Given the description of an element on the screen output the (x, y) to click on. 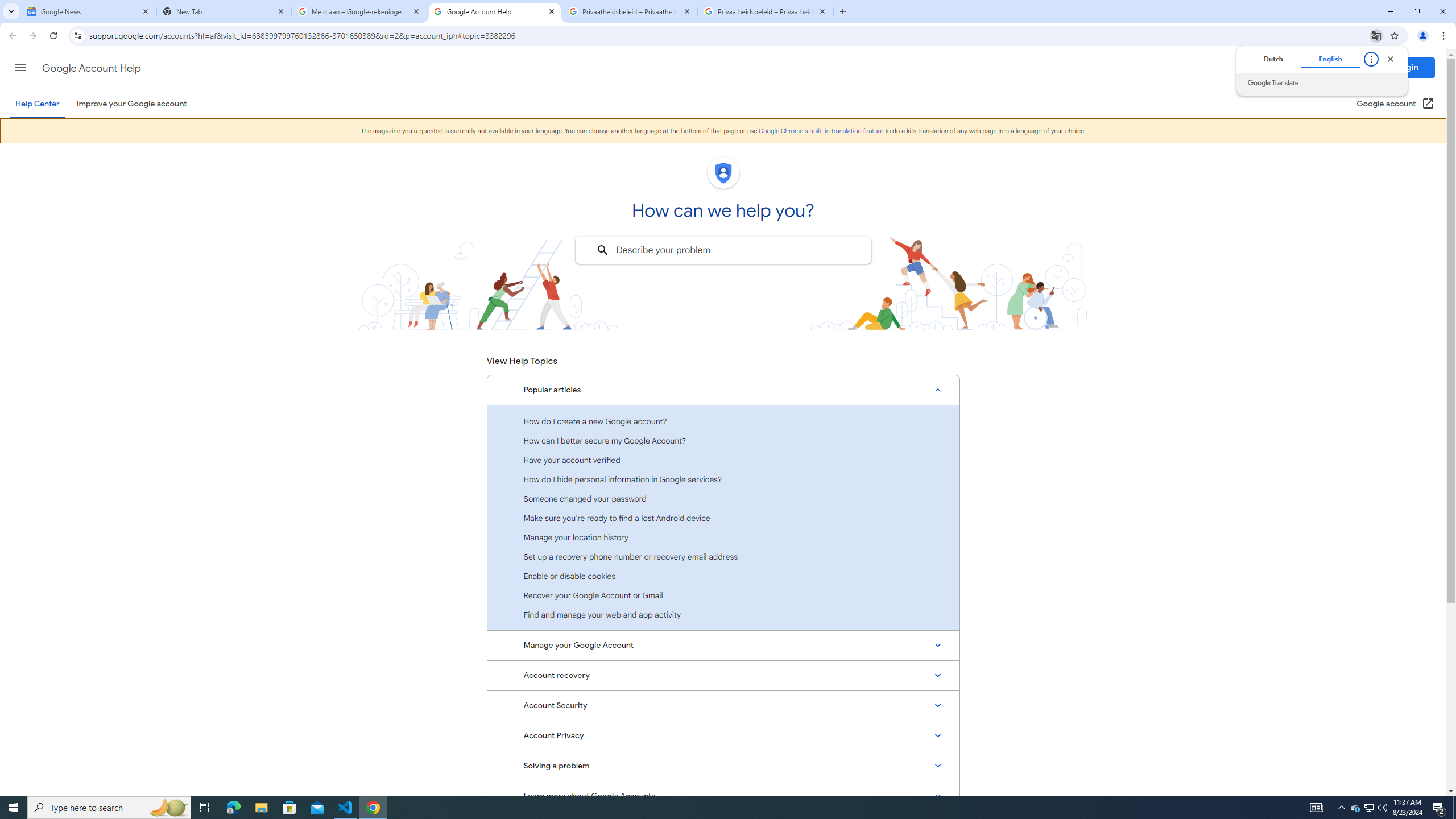
Recover your Google Account or Gmail (722, 595)
How can I better secure my Google Account? (722, 440)
How do I hide personal information in Google services? (722, 479)
English (1329, 58)
Dutch (1272, 58)
Improve your Google account (131, 103)
Translate options (1370, 58)
Account Privacy (722, 736)
